Given the description of an element on the screen output the (x, y) to click on. 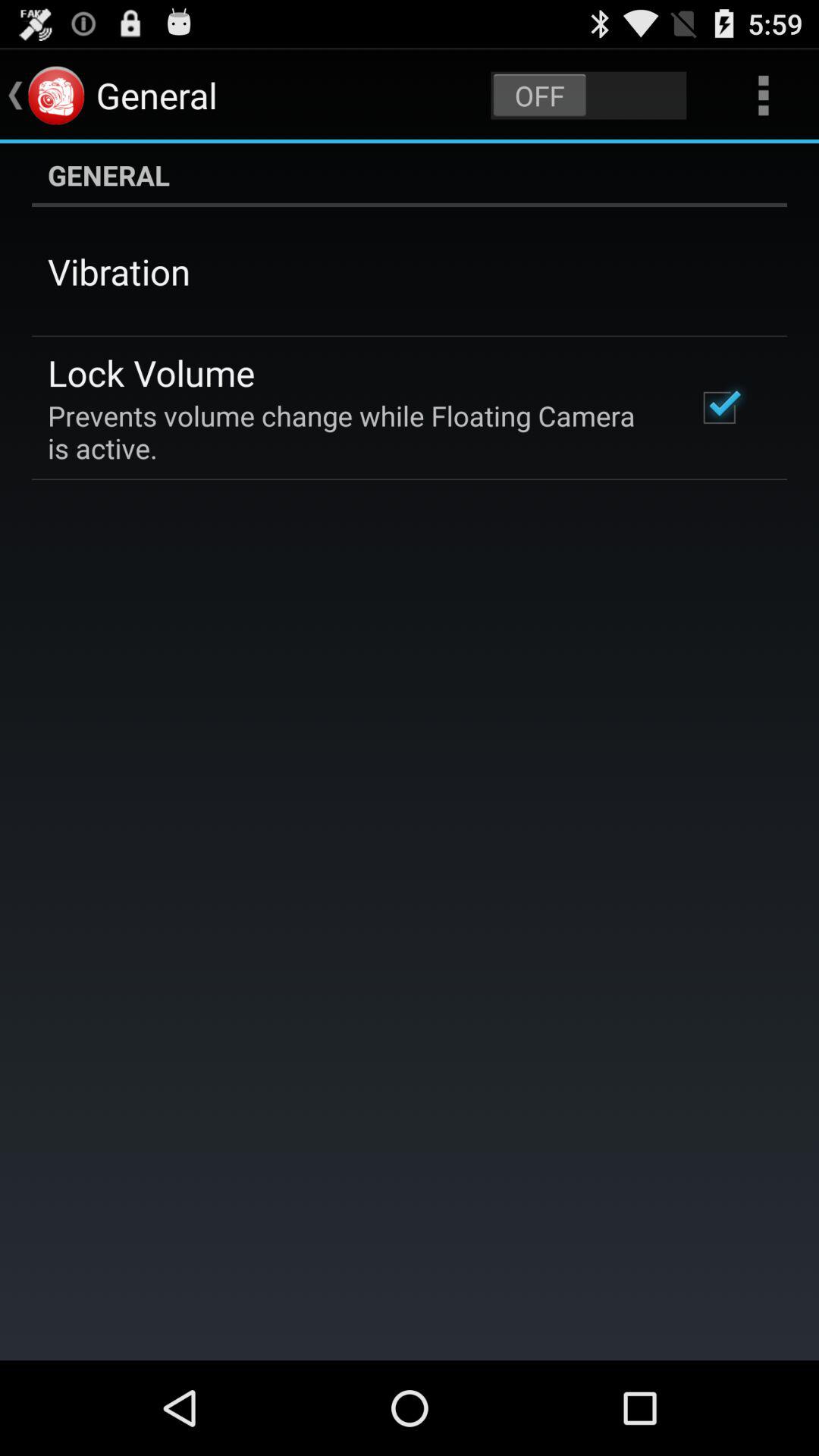
launch item below the lock volume app (351, 431)
